Given the description of an element on the screen output the (x, y) to click on. 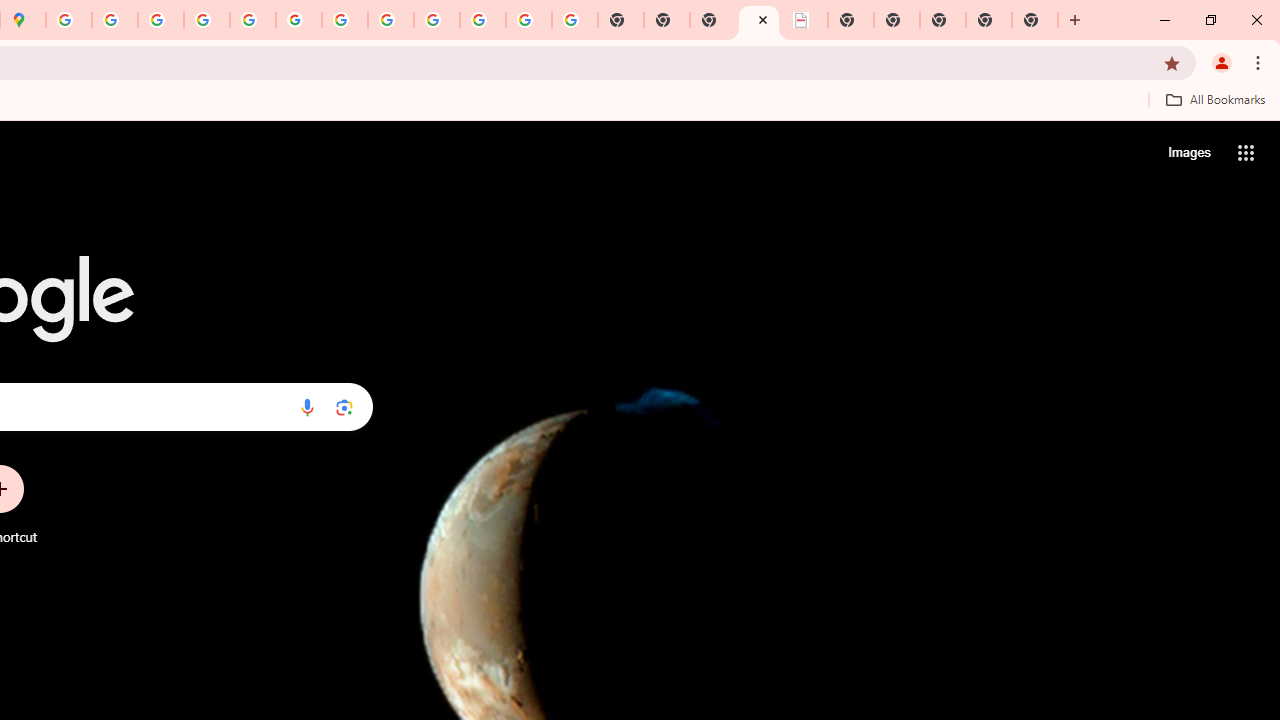
Privacy Help Center - Policies Help (207, 20)
YouTube (345, 20)
LAAD Defence & Security 2025 | BAE Systems (805, 20)
New Tab (989, 20)
New Tab (1035, 20)
